Given the description of an element on the screen output the (x, y) to click on. 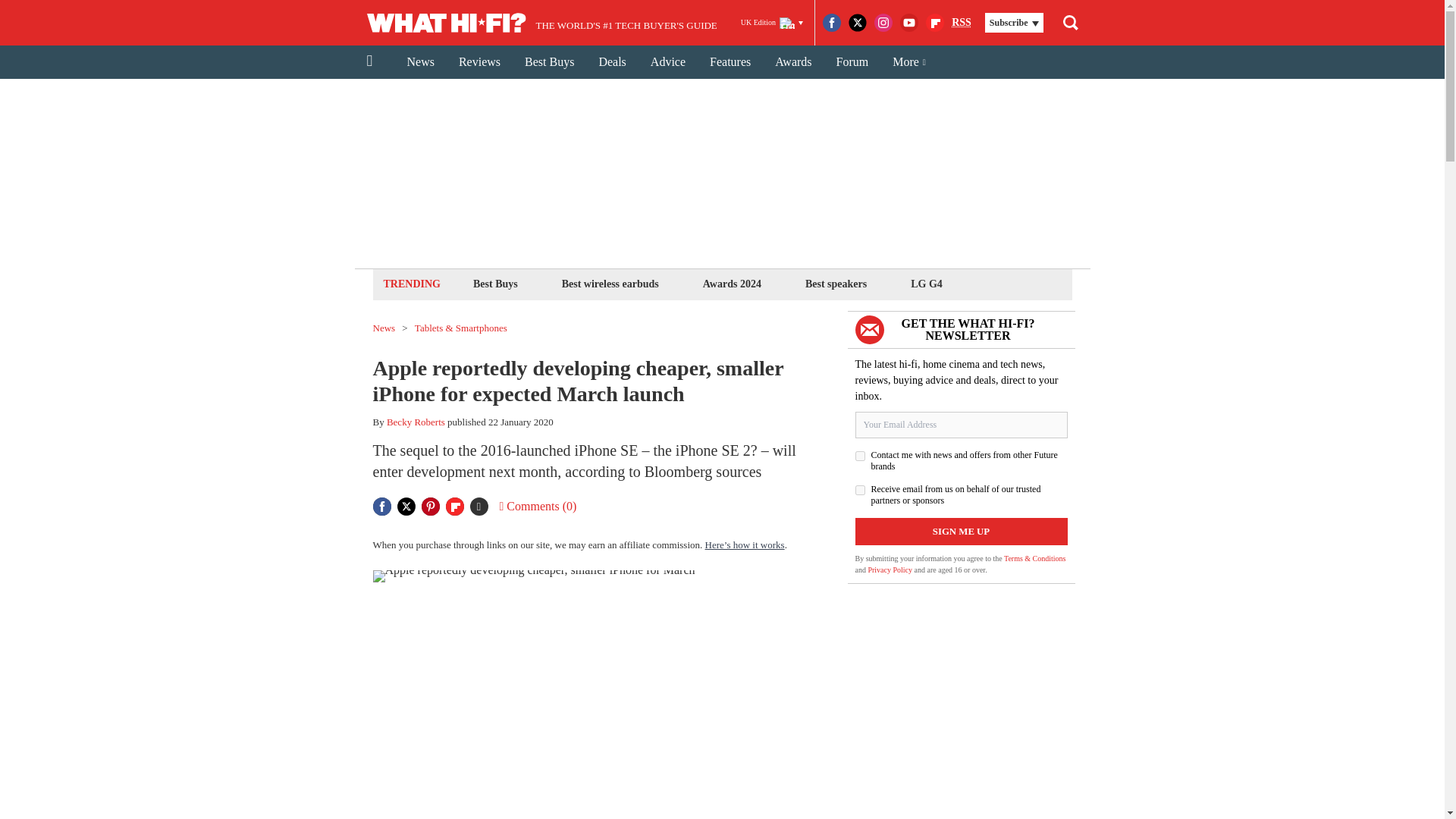
UK Edition (771, 22)
LG G4 (926, 283)
on (860, 456)
Forum (852, 61)
RSS (961, 22)
Advice (668, 61)
Features (729, 61)
Awards (793, 61)
Becky Roberts (416, 421)
on (860, 490)
